Given the description of an element on the screen output the (x, y) to click on. 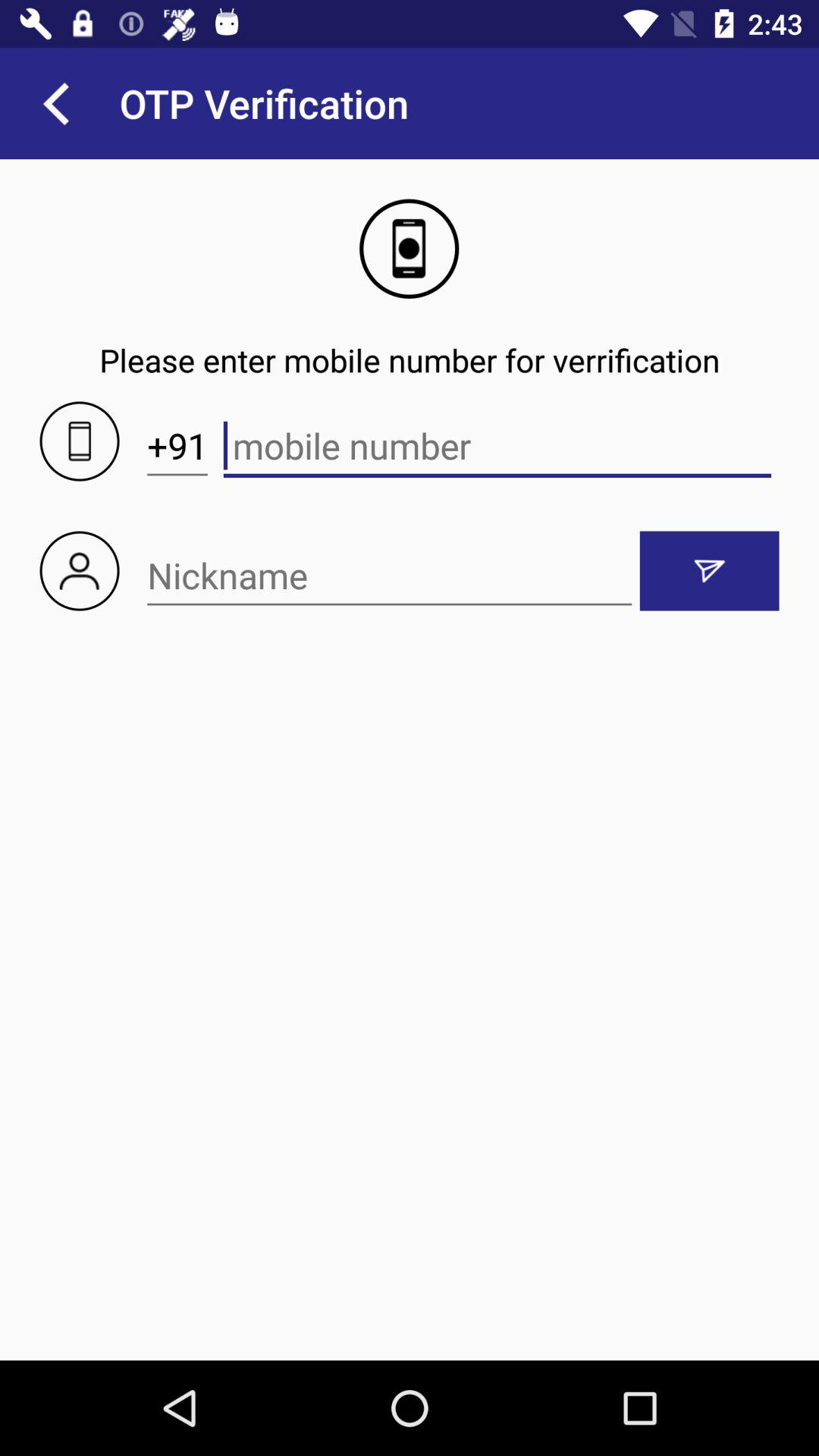
tap item above the please enter mobile (55, 103)
